Given the description of an element on the screen output the (x, y) to click on. 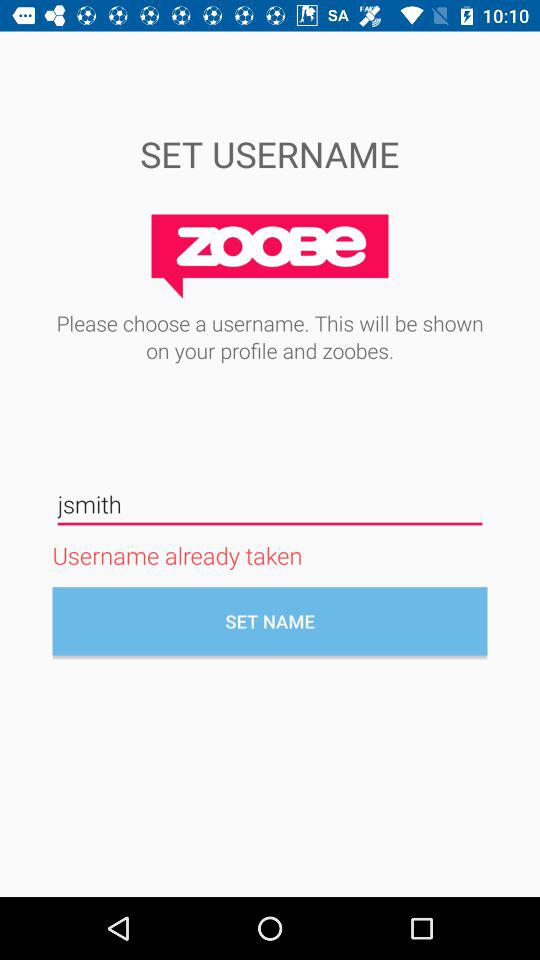
swipe to the set name icon (269, 621)
